Given the description of an element on the screen output the (x, y) to click on. 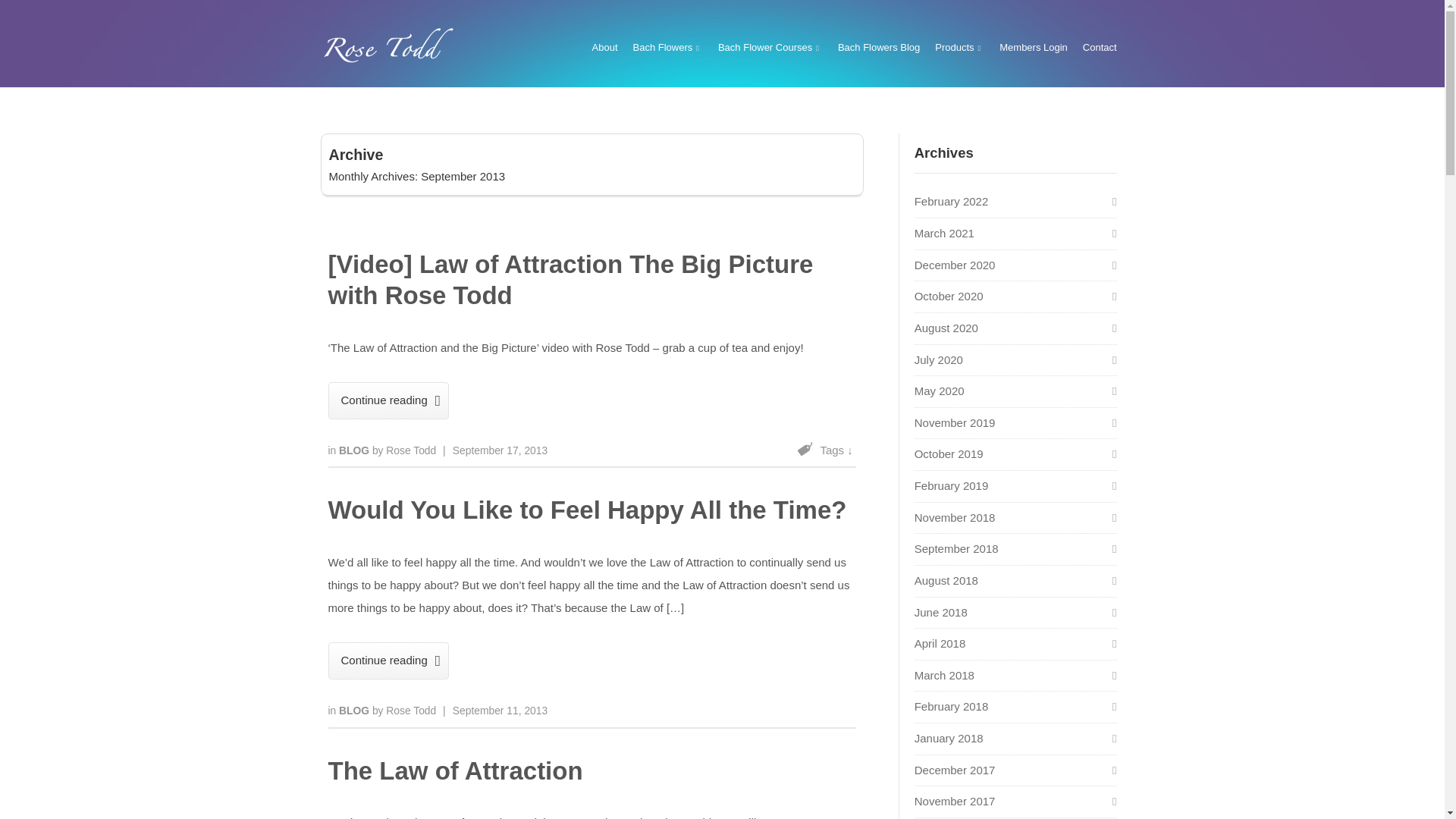
Rose Todd (410, 710)
November 2019 (954, 422)
May 2020 (938, 390)
Products (959, 47)
October 2020 (949, 295)
The Law of Attraction (454, 770)
August 2020 (946, 327)
March 2021 (944, 232)
BLOG (355, 450)
Bach Flowers Blog (879, 47)
